Given the description of an element on the screen output the (x, y) to click on. 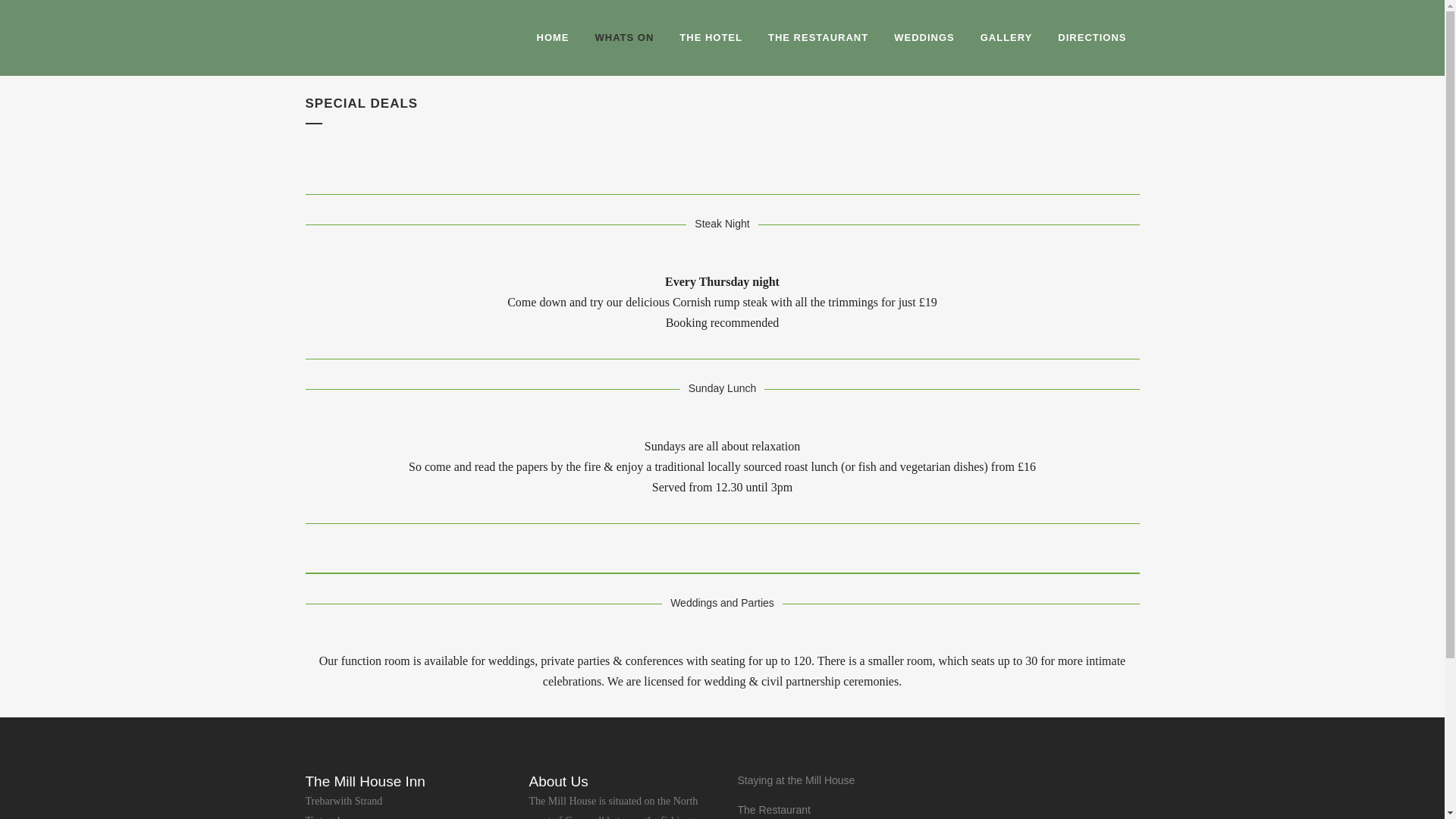
WEDDINGS (924, 38)
THE HOTEL (710, 38)
THE RESTAURANT (817, 38)
DIRECTIONS (1091, 38)
GALLERY (1006, 38)
WHATS ON (624, 38)
